Given the description of an element on the screen output the (x, y) to click on. 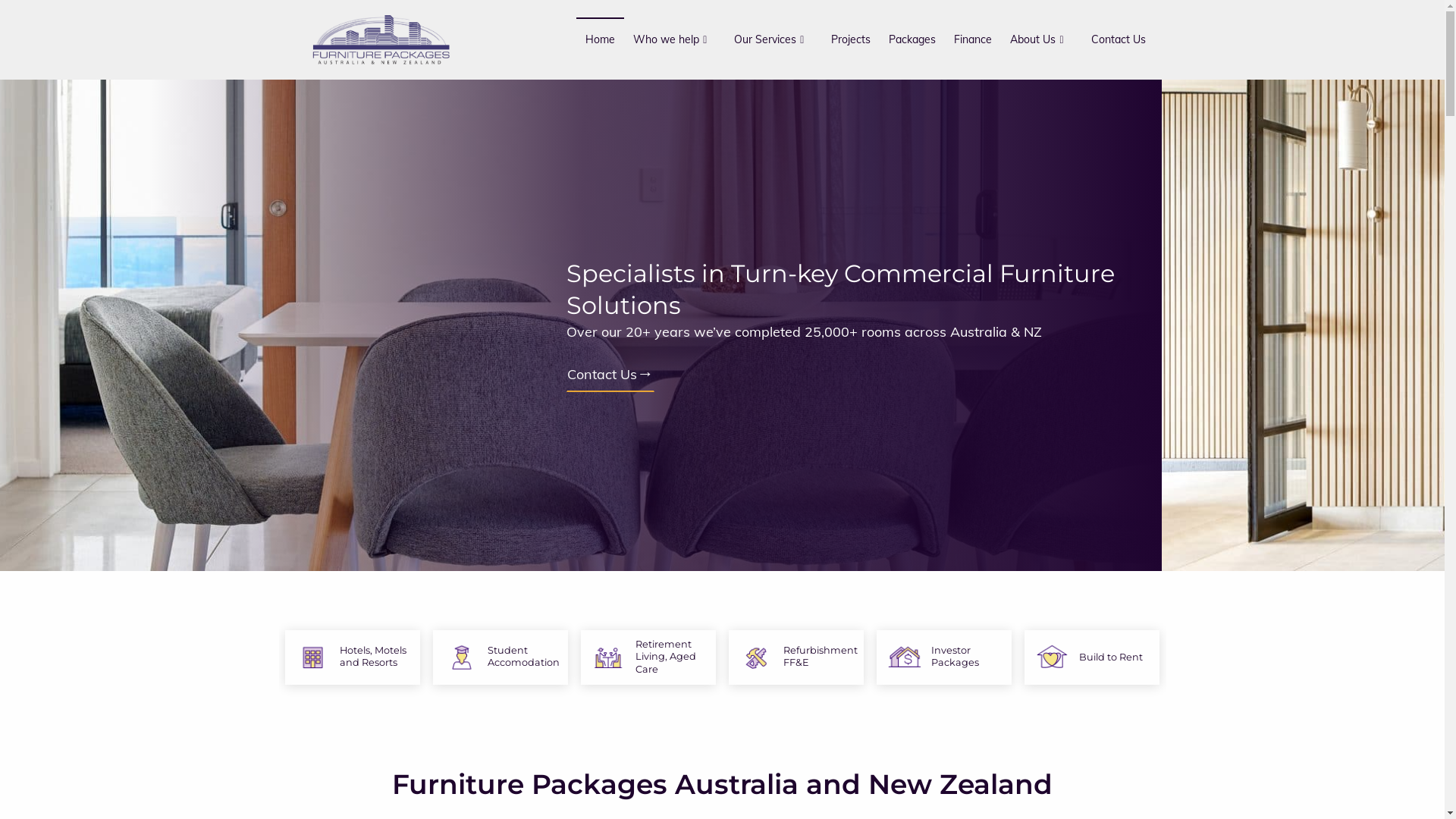
Packages Element type: text (911, 38)
Hotels, Motels and Resorts Element type: text (352, 657)
Refurbishment FF&E Element type: text (795, 657)
Investor Packages Element type: text (943, 657)
Contact Us Element type: text (1117, 38)
Finance Element type: text (972, 38)
Student Accomodation Element type: text (500, 657)
Our Services Element type: text (773, 39)
Who we help Element type: text (674, 39)
Home Element type: text (600, 38)
About Us Element type: text (1041, 39)
Contact Us Element type: text (893, 373)
Projects Element type: text (850, 38)
Build to Rent Element type: text (1091, 657)
Retirement Living, Aged Care Element type: text (647, 657)
